Given the description of an element on the screen output the (x, y) to click on. 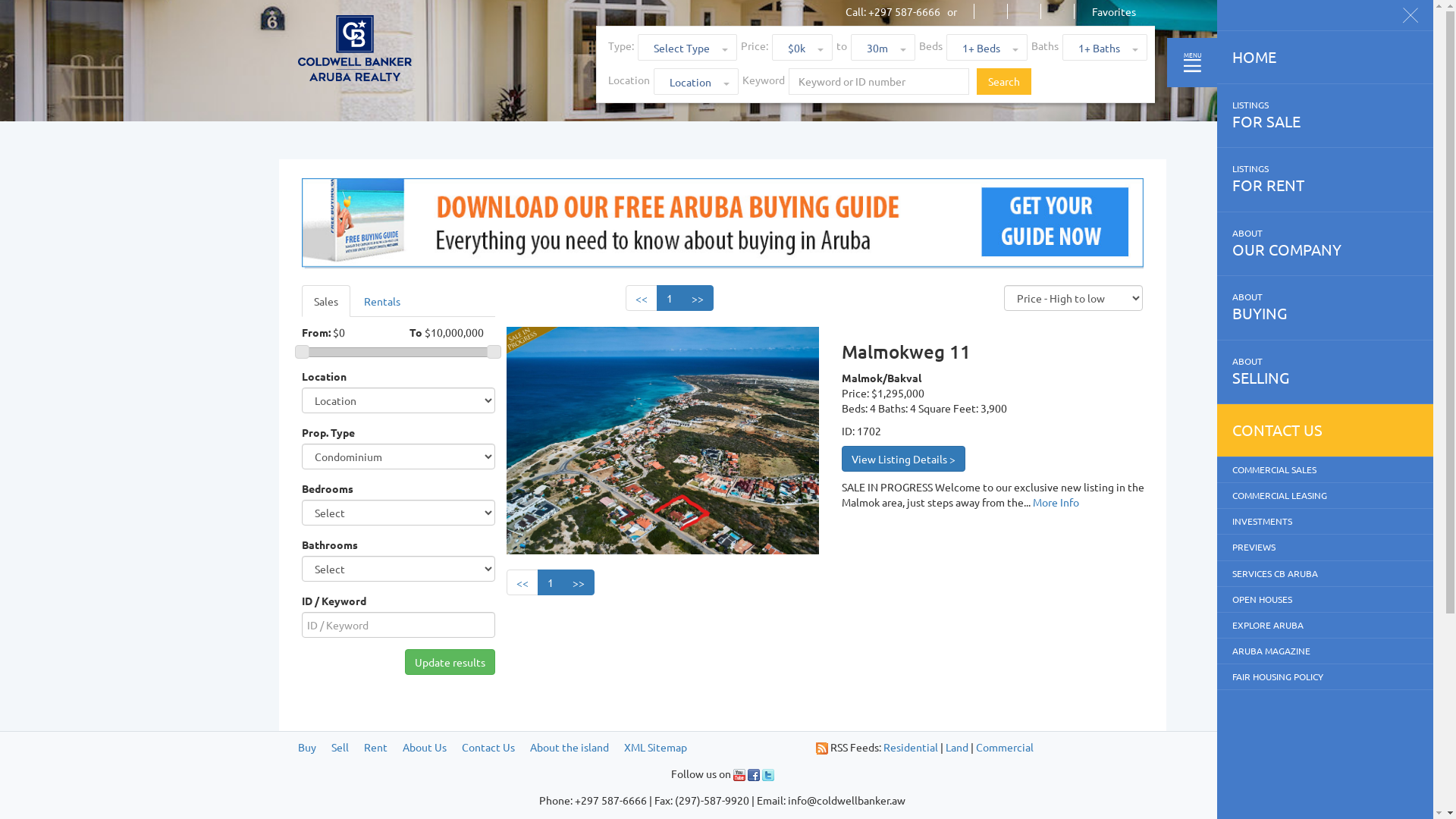
COMMERCIAL SALES Element type: text (1325, 469)
View Listing Details > Element type: text (903, 458)
HOME Element type: text (1325, 57)
Contact Us Element type: text (487, 746)
Sell Element type: text (339, 746)
FAIR HOUSING POLICY Element type: text (1325, 676)
Land Element type: text (955, 746)
About Us Element type: text (423, 746)
LISTINGS
FOR SALE Element type: text (1325, 115)
Sales Element type: text (325, 300)
Buy Element type: text (306, 746)
>> Element type: text (697, 297)
1 Element type: text (669, 297)
OPEN HOUSES Element type: text (1325, 598)
ARUBA MAGAZINE Element type: text (1325, 650)
Favorites Element type: text (1113, 11)
ABOUT
BUYING Element type: text (1325, 307)
ABOUT
OUR COMPANY Element type: text (1325, 244)
Update results Element type: text (449, 661)
MENU Element type: text (1192, 62)
>> Element type: text (578, 582)
Residential Element type: text (909, 746)
XML Sitemap Element type: text (654, 746)
1 Element type: text (549, 582)
INVESTMENTS Element type: text (1325, 520)
Commercial Element type: text (1003, 746)
COMMERCIAL LEASING Element type: text (1325, 495)
About the island Element type: text (568, 746)
EXPLORE ARUBA Element type: text (1325, 624)
Search Element type: text (1003, 81)
<< Element type: text (641, 297)
SERVICES CB ARUBA Element type: text (1325, 573)
LISTINGS
FOR RENT Element type: text (1325, 179)
ABOUT
SELLING Element type: text (1325, 372)
PREVIEWS Element type: text (1325, 546)
More Info Element type: text (1055, 501)
<< Element type: text (522, 582)
CONTACT US Element type: text (1325, 430)
Rent Element type: text (375, 746)
Rentals Element type: text (381, 300)
